Given the description of an element on the screen output the (x, y) to click on. 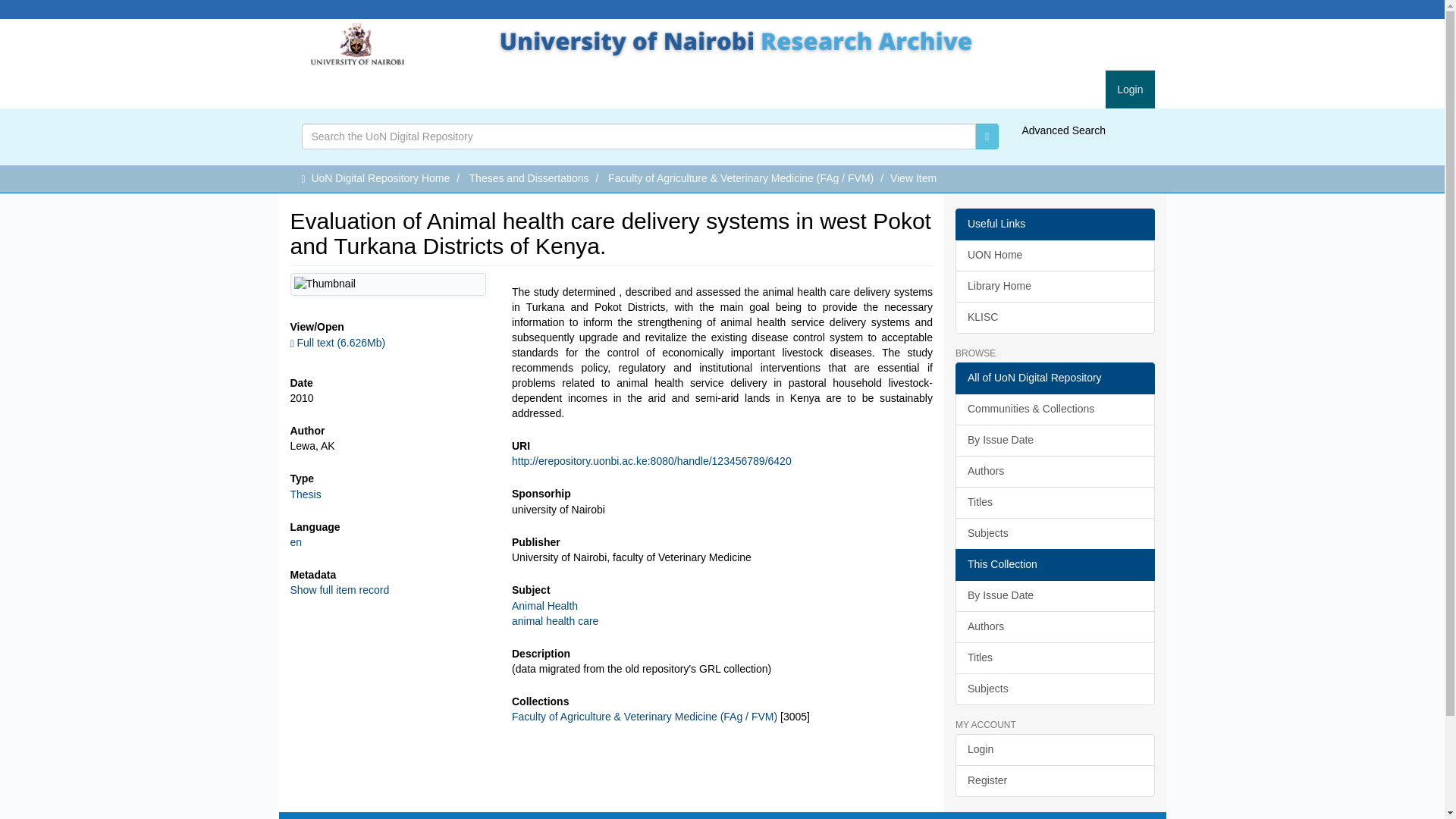
Theses and Dissertations (528, 177)
This Collection (1054, 564)
Advanced Search (1063, 130)
animal health care (555, 621)
UoN Digital Repository Home (380, 177)
Login (1129, 89)
Library Home (1054, 286)
Go (986, 136)
By Issue Date (1054, 595)
Authors (1054, 471)
Authors (1054, 626)
Subjects (1054, 533)
Show full item record (338, 589)
All of UoN Digital Repository (1054, 377)
en (295, 541)
